Given the description of an element on the screen output the (x, y) to click on. 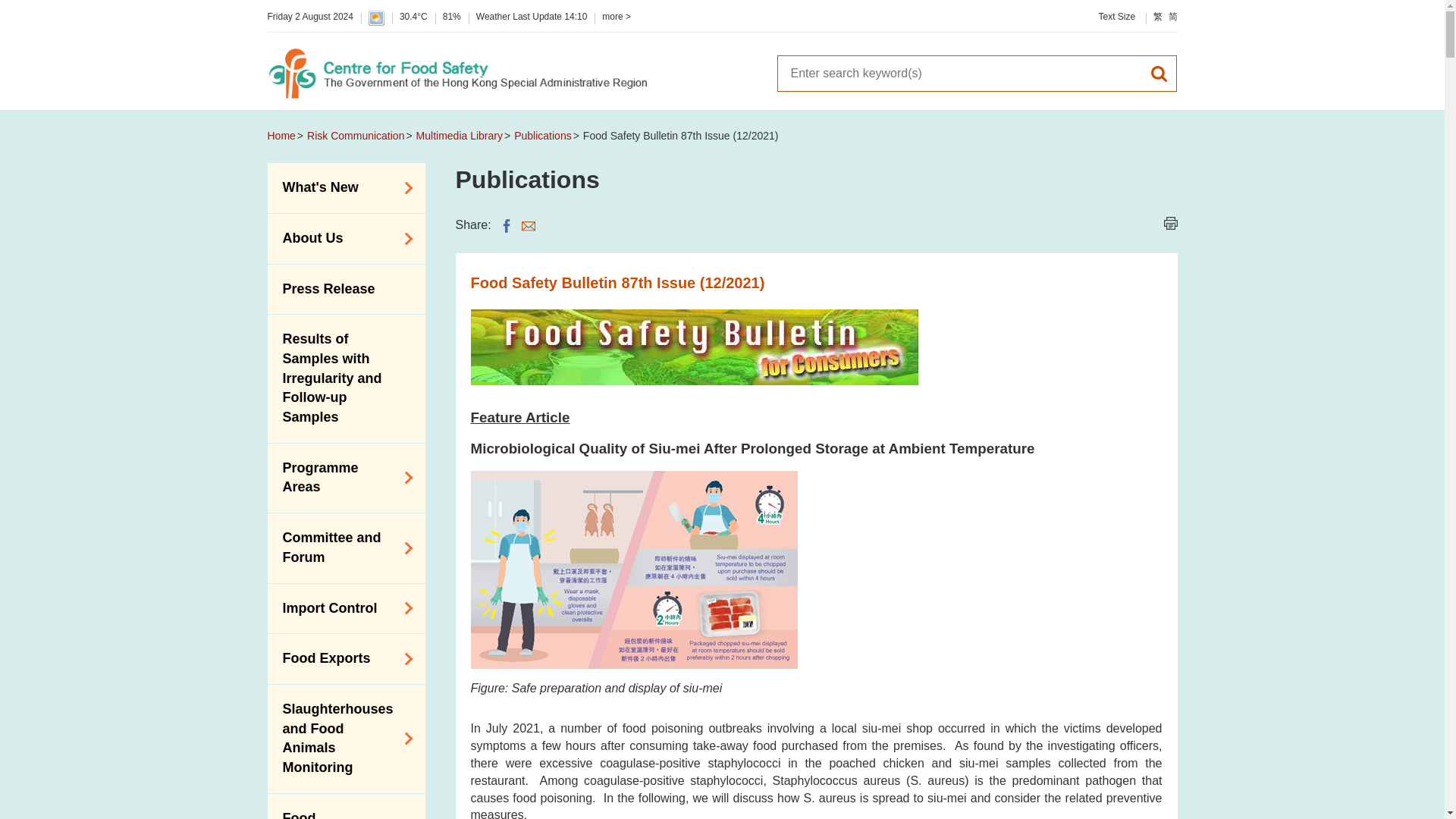
More Weather Information (616, 16)
Search (958, 73)
Search (1159, 73)
Search (1159, 73)
Print (1169, 223)
Sunny Periods with A Few Showers (376, 17)
Search (1159, 73)
Change Text Size (1116, 16)
Text Size (1116, 16)
